Given the description of an element on the screen output the (x, y) to click on. 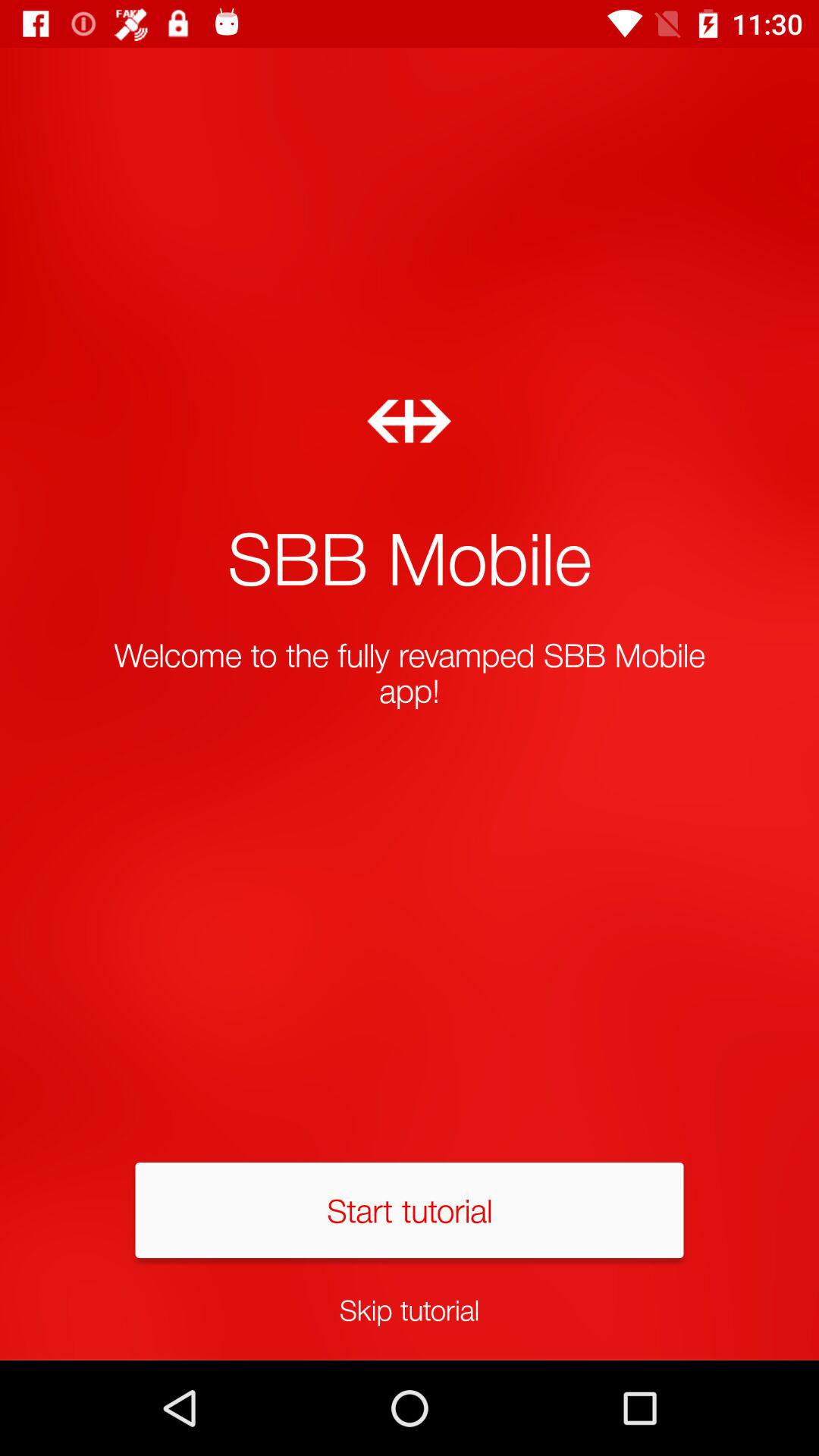
tap skip tutorial icon (409, 1309)
